Given the description of an element on the screen output the (x, y) to click on. 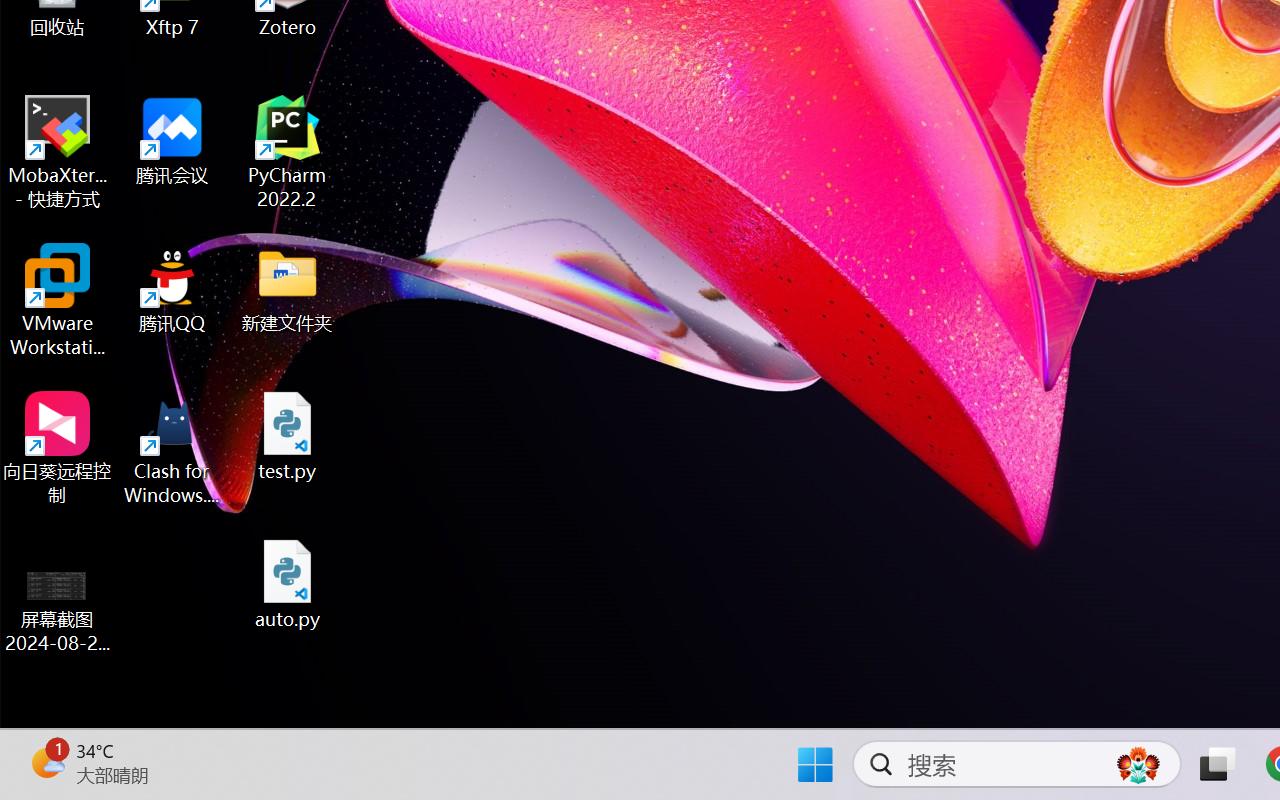
Mintlify Doc Writer (48, 185)
Python (48, 88)
Spelling and Grammar Check Errors (208, 712)
Sourcery, Manage Sourcery settings (786, 705)
